Given the description of an element on the screen output the (x, y) to click on. 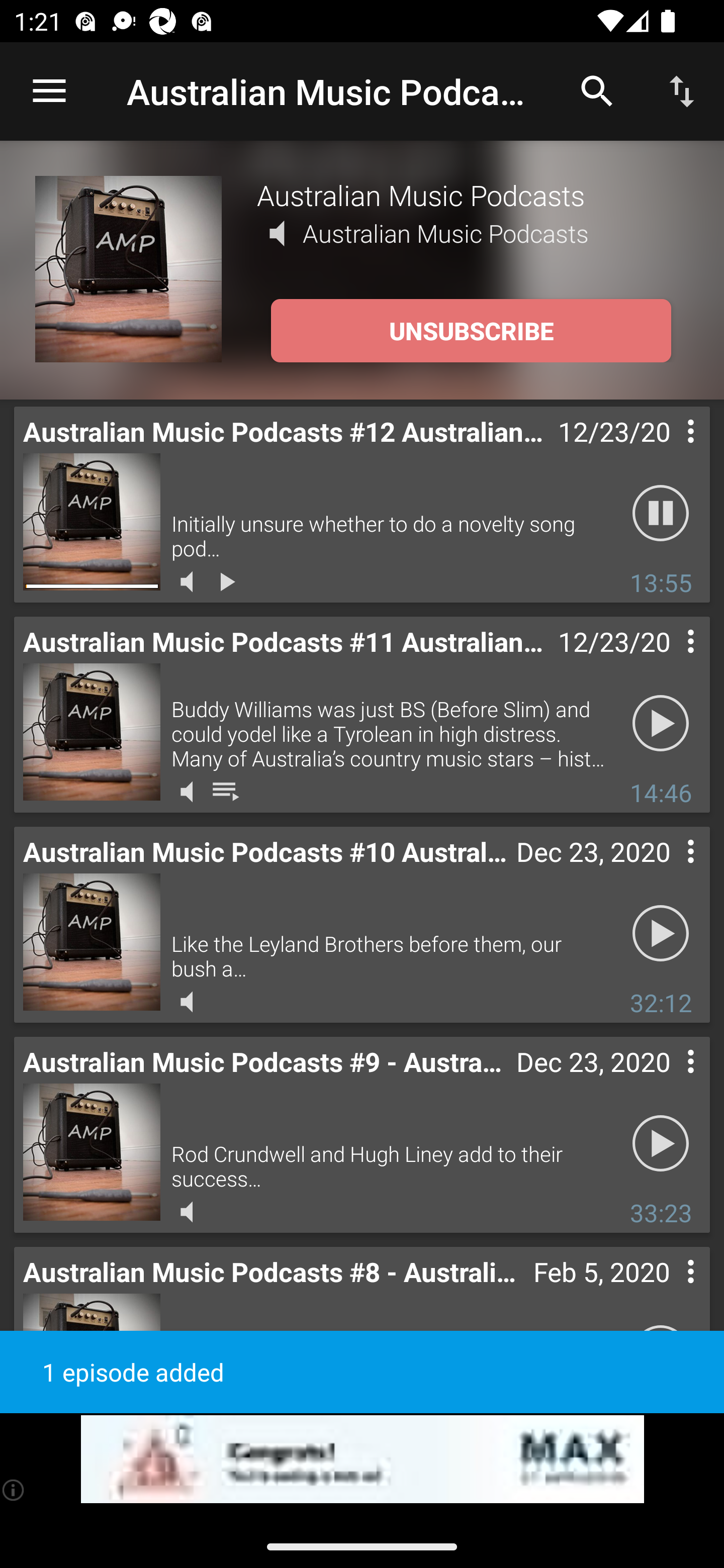
Open navigation sidebar (49, 91)
Search (597, 90)
Sort (681, 90)
UNSUBSCRIBE (470, 330)
Contextual menu (668, 451)
Pause (660, 513)
Contextual menu (668, 661)
Play (660, 723)
Contextual menu (668, 870)
Play (660, 933)
Contextual menu (668, 1080)
Play (660, 1143)
Contextual menu (668, 1290)
app-monetization (362, 1459)
(i) (14, 1489)
